Given the description of an element on the screen output the (x, y) to click on. 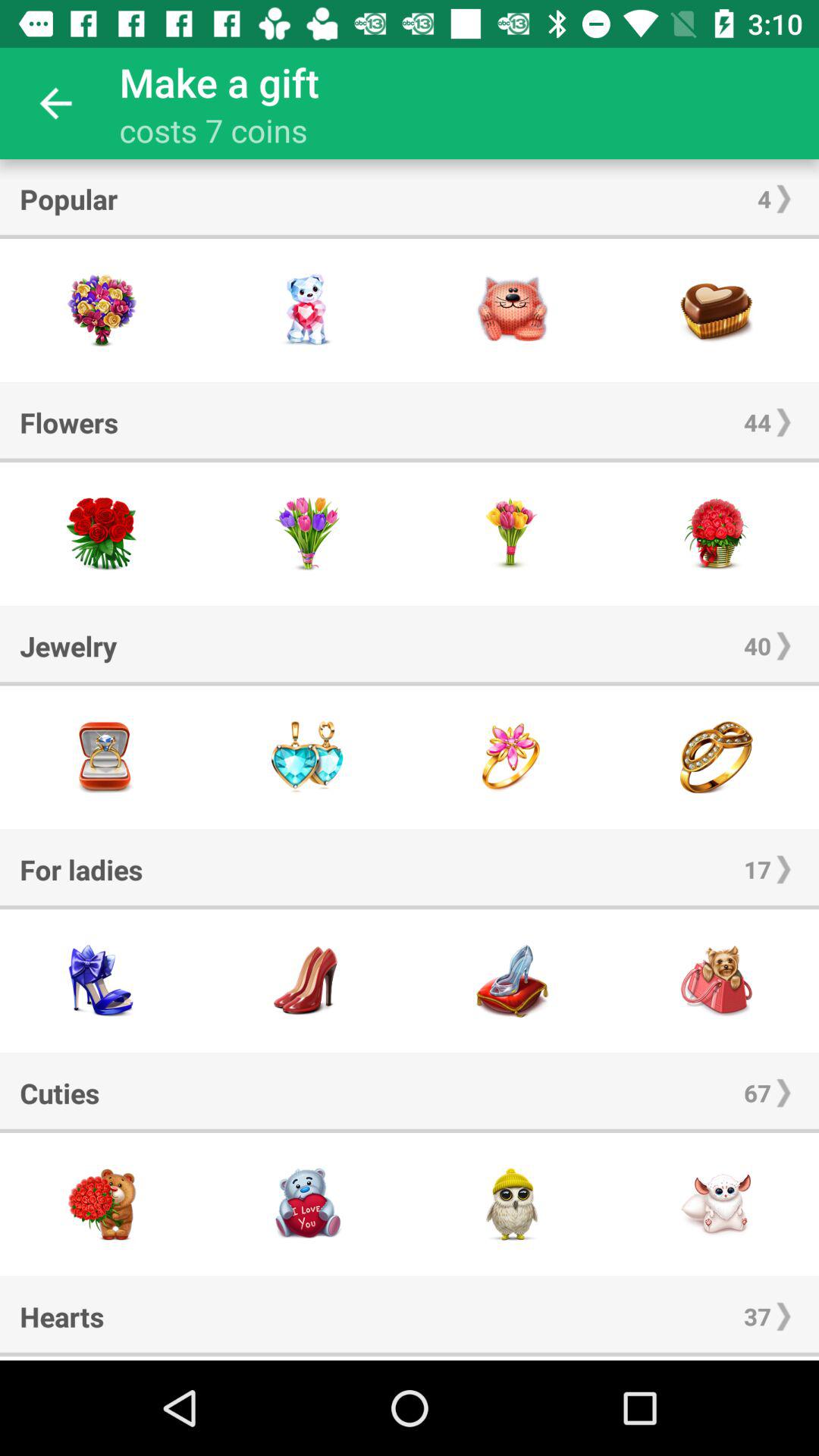
flower (306, 533)
